Given the description of an element on the screen output the (x, y) to click on. 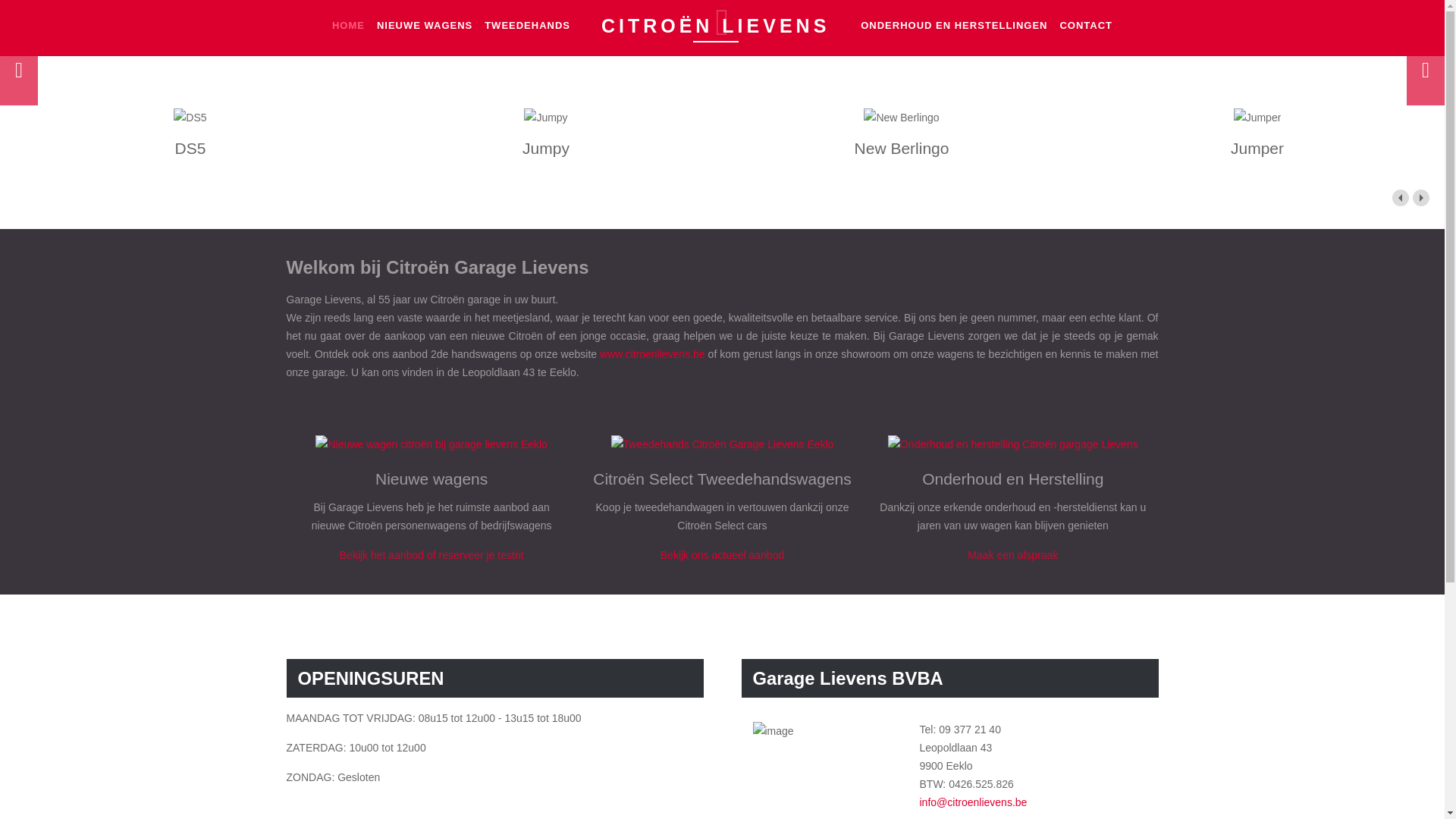
ONDERHOUD EN HERSTELLINGEN Element type: text (953, 25)
Bekijk ons actueel aanbod Element type: text (722, 555)
Bekijk het aanbod of reserveer je testrit Element type: text (431, 555)
NIEUWE WAGENS Element type: text (424, 25)
info@citroenlievens.be Element type: text (972, 802)
HOME Element type: text (348, 25)
CONTACT Element type: text (1085, 25)
Maak een afspraak Element type: text (1012, 555)
www.citroenlievens.be Element type: text (652, 354)
TWEEDEHANDS Element type: text (527, 25)
